Given the description of an element on the screen output the (x, y) to click on. 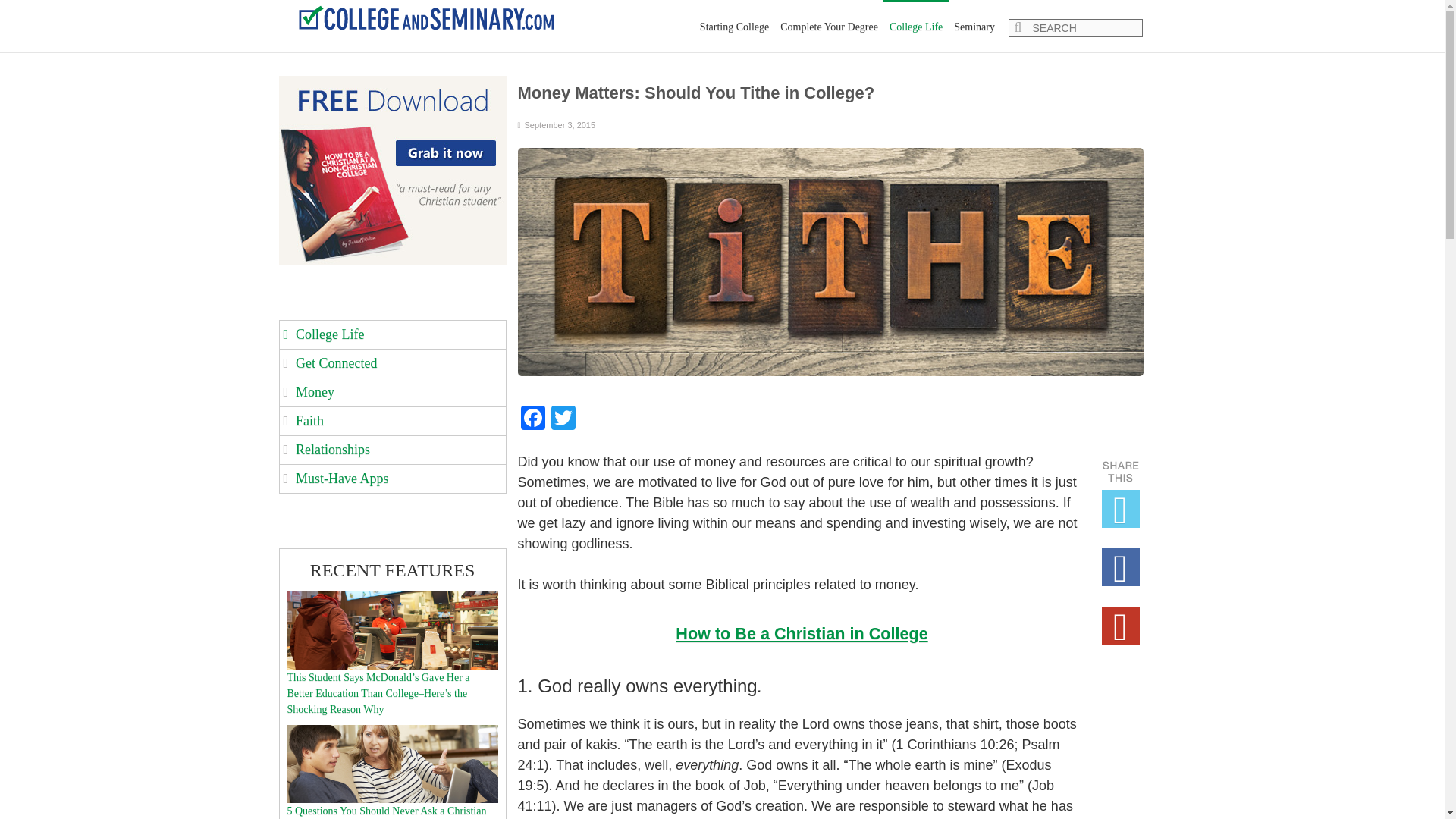
Relationships (332, 449)
Money (314, 391)
College Life (915, 27)
Starting College (734, 27)
Complete Your Degree (828, 27)
5 Questions You Should Never Ask a Christian College Student (391, 732)
Faith (309, 420)
Seminary (975, 27)
5 Questions You Should Never Ask a Christian College Student (386, 812)
Must-Have Apps (341, 478)
